Given the description of an element on the screen output the (x, y) to click on. 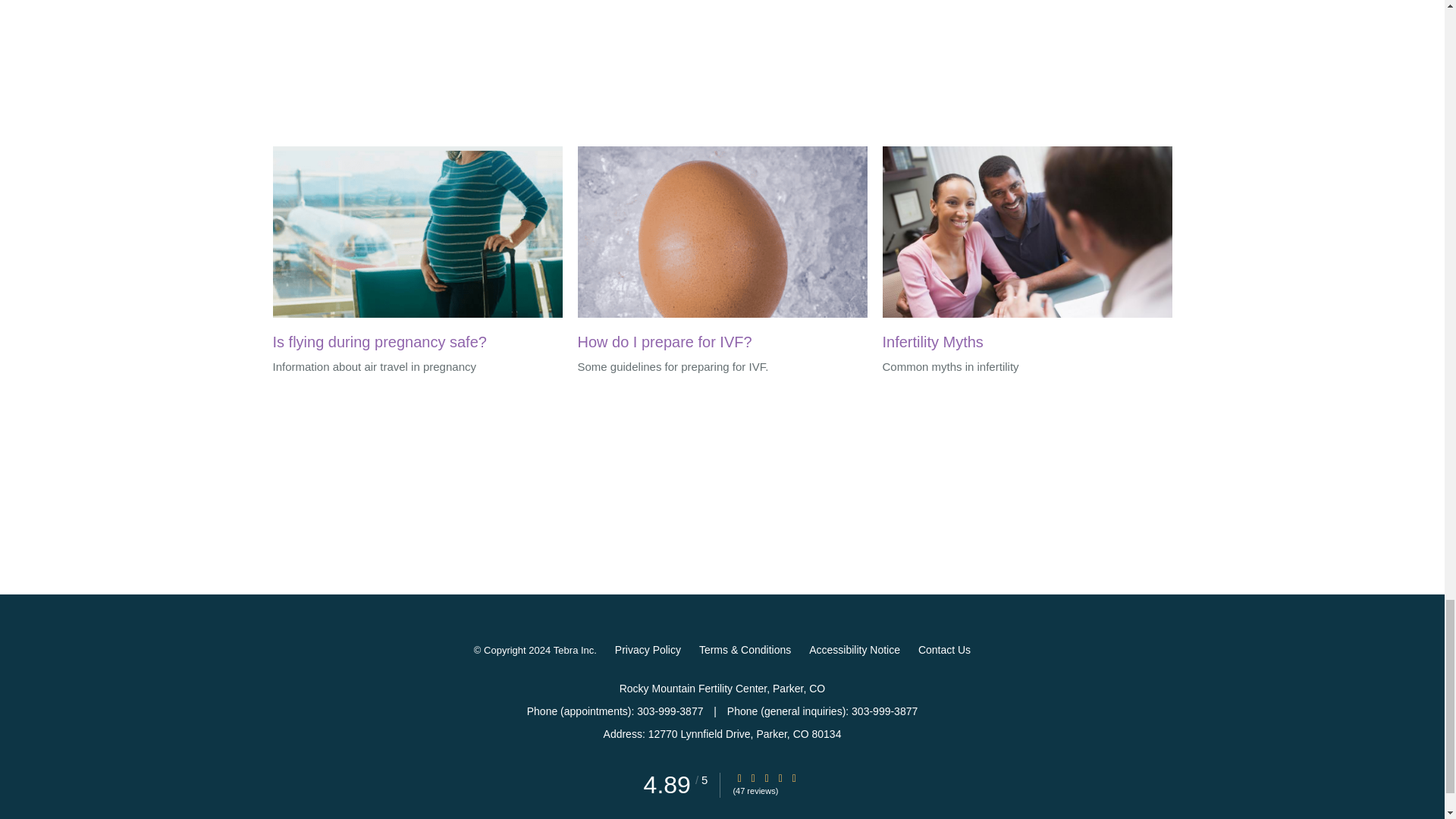
Star Rating (738, 778)
Star Rating (753, 778)
Star Rating (780, 778)
Star Rating (766, 778)
Star Rating (794, 778)
